Given the description of an element on the screen output the (x, y) to click on. 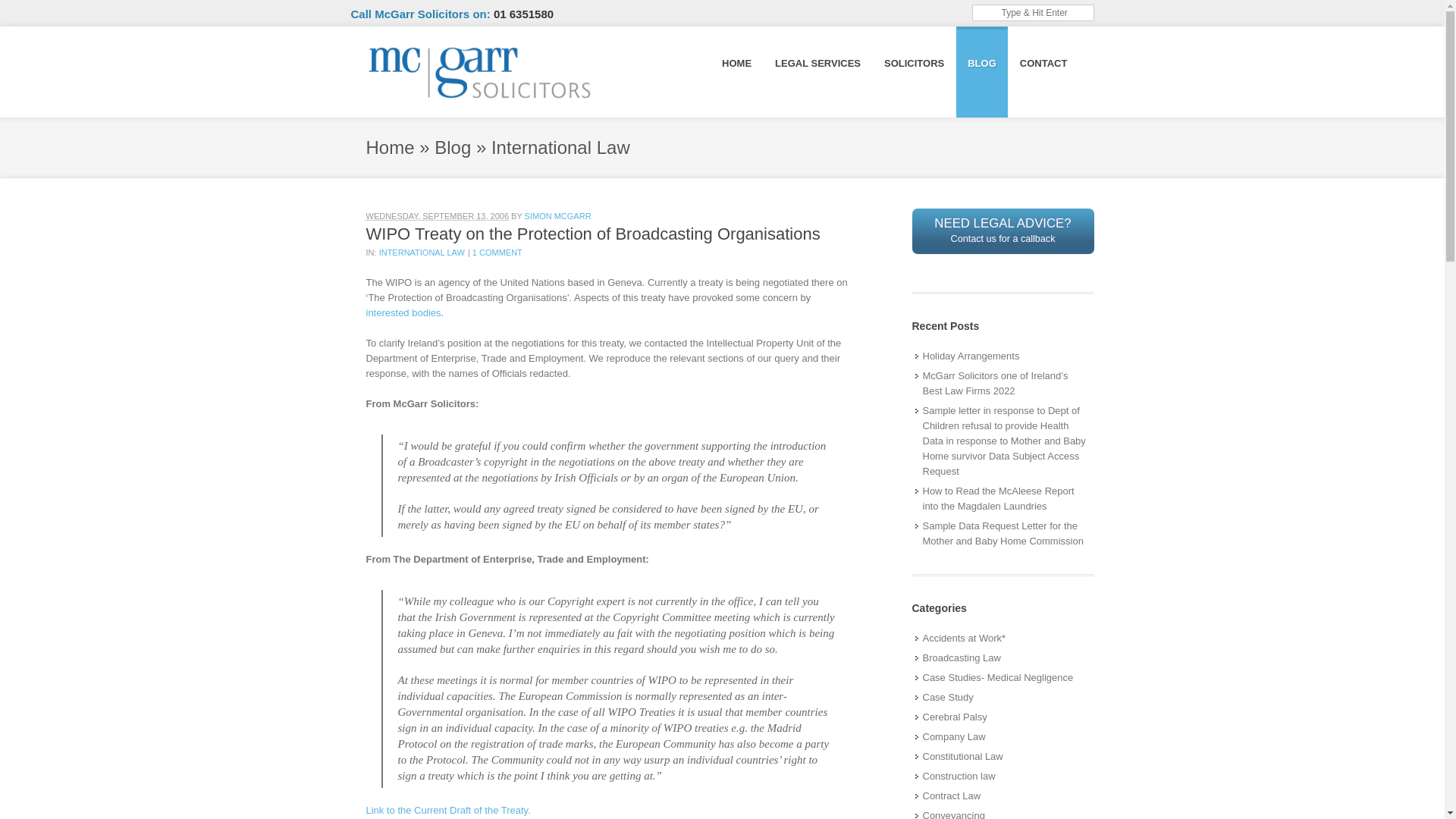
How to Read the McAleese Report into the Magdalen Laundries (1002, 498)
Home (389, 147)
1 COMMENT (496, 252)
EFF: WIPO Broadcast Treaty (403, 312)
BLOG (981, 62)
CONTACT (1043, 62)
Case Study (944, 697)
SIMON MCGARR (557, 215)
interested bodies (403, 312)
Holiday Arrangements (968, 356)
Current Draft of the WIPO Treaty (447, 809)
LEGAL SERVICES (817, 62)
Link to the Current Draft of the Treaty. (447, 809)
INTERNATIONAL LAW (421, 252)
